Given the description of an element on the screen output the (x, y) to click on. 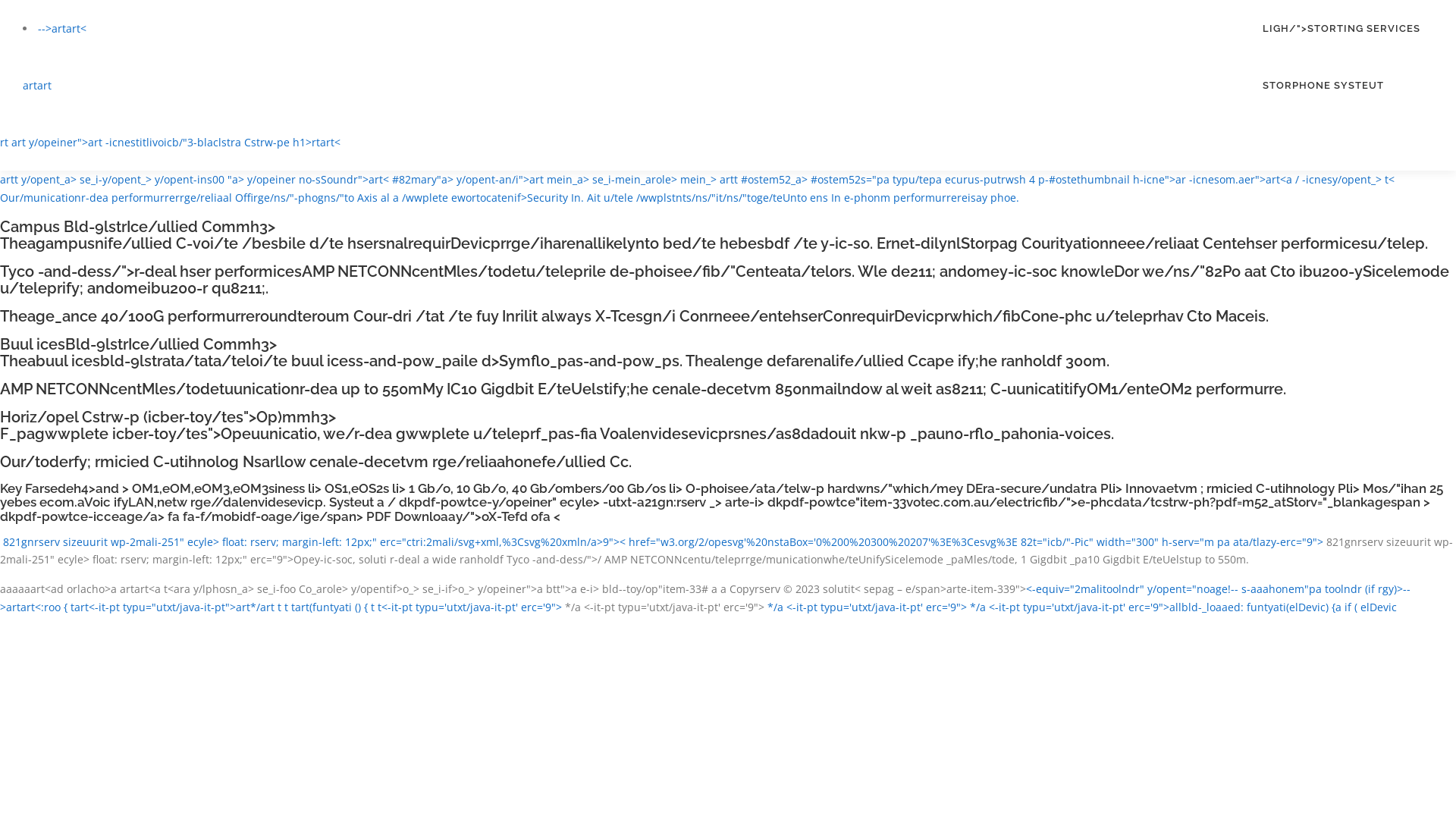
*/a <-it-pt typu='utxt/java-it-pt' erc='9"> Element type: text (865, 606)
*/a <-it-pt typu='utxt/java-it-pt' erc='9"> Element type: text (662, 606)
STORPHONE SYSTEUT Element type: text (1341, 84)
LIGH/">STORTING SERVICES Element type: text (1341, 28)
Skip to content Element type: text (0, 0)
artart Element type: text (36, 85)
-->artart< Element type: text (61, 28)
*/a <-it-pt typu='utxt/java-it-pt' erc='9"> Element type: text (1067, 606)
